Given the description of an element on the screen output the (x, y) to click on. 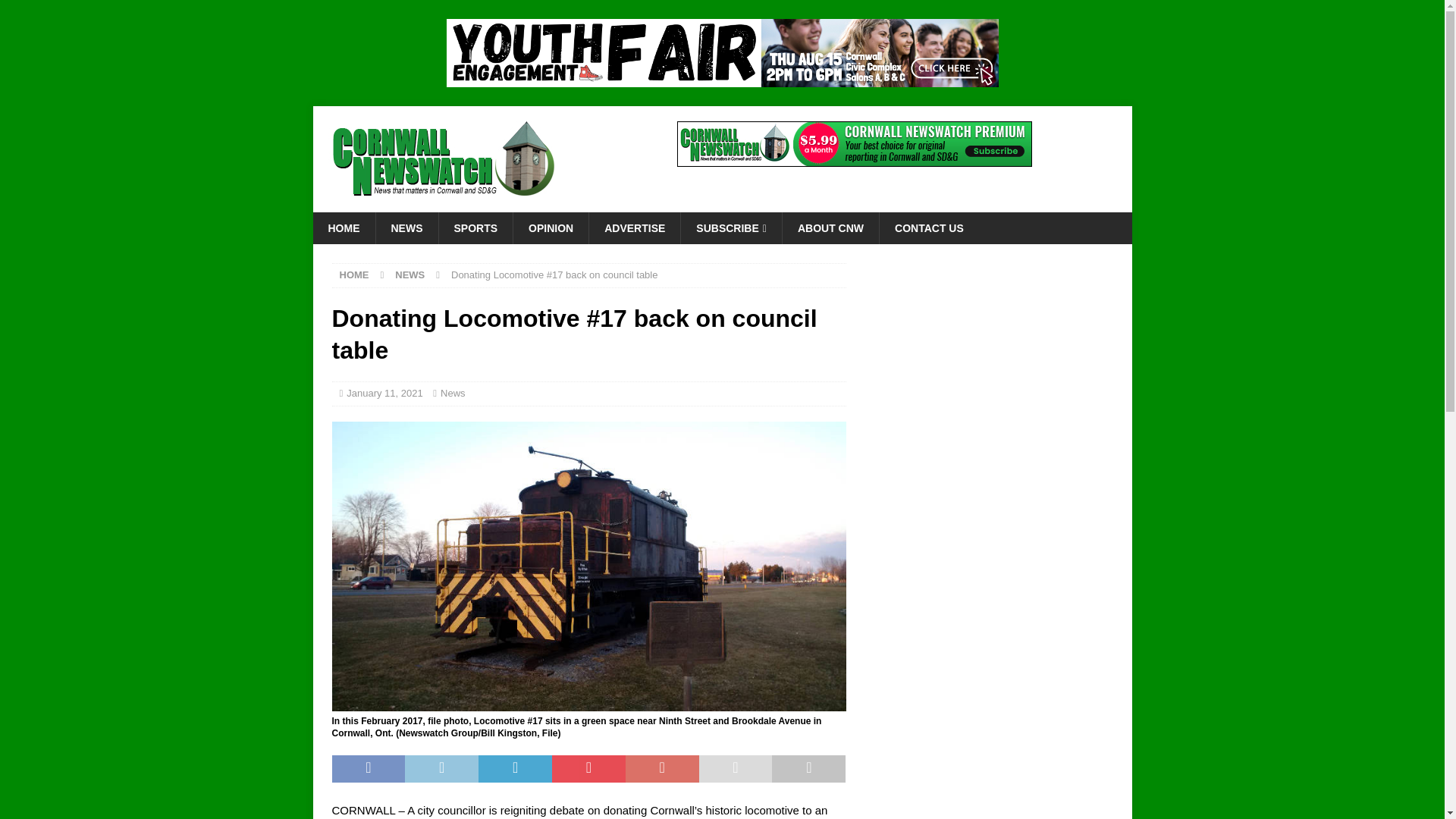
SPORTS (475, 228)
ADVERTISE (633, 228)
ABOUT CNW (830, 228)
NEWS (409, 274)
HOME (343, 228)
SUBSCRIBE (730, 228)
January 11, 2021 (384, 392)
HOME (354, 274)
News (453, 392)
NEWS (406, 228)
